Given the description of an element on the screen output the (x, y) to click on. 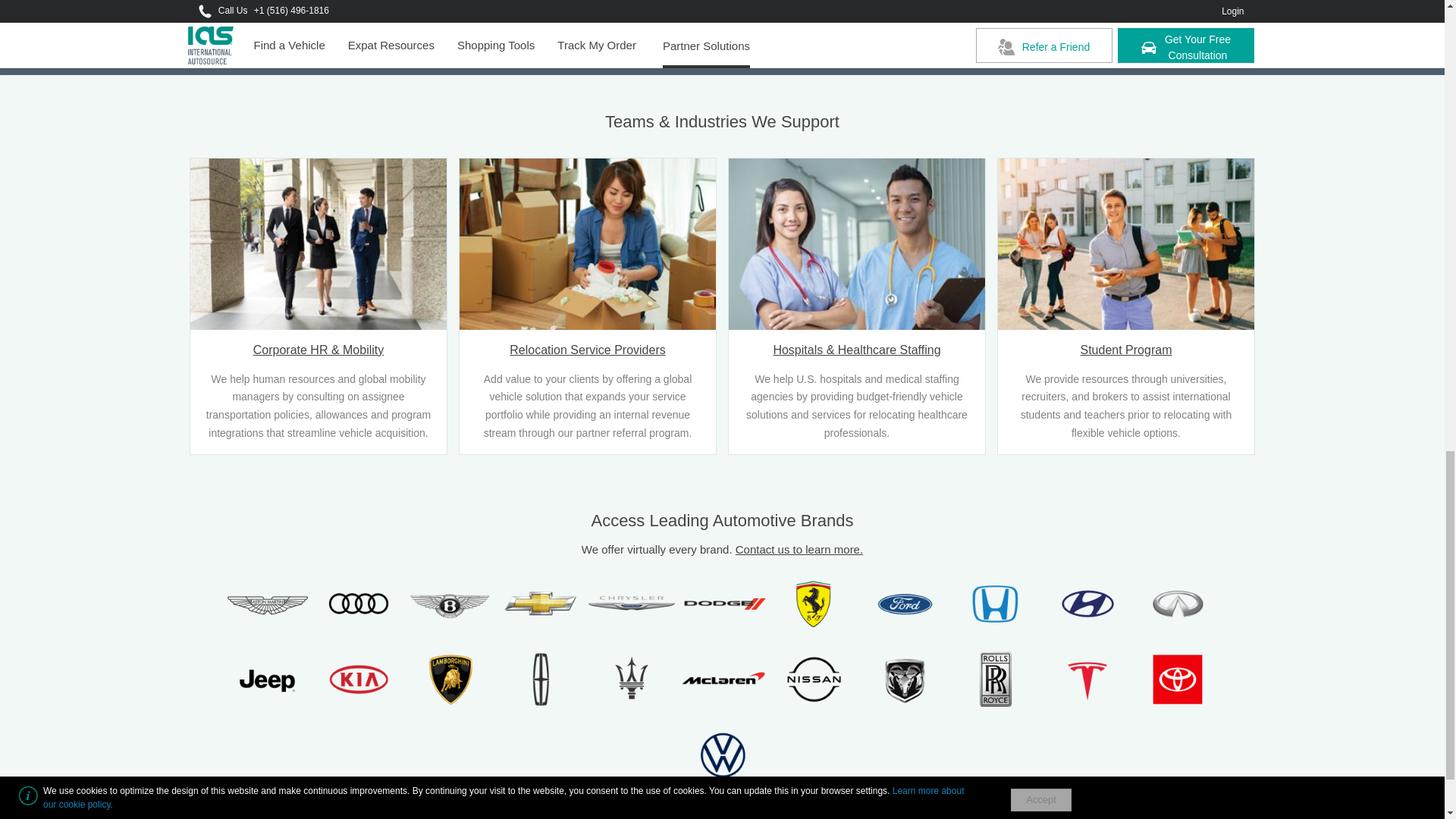
Privacy Policy. (1070, 33)
Submit (1148, 4)
Relocation Service Providers (588, 344)
Student Program (1126, 344)
